Given the description of an element on the screen output the (x, y) to click on. 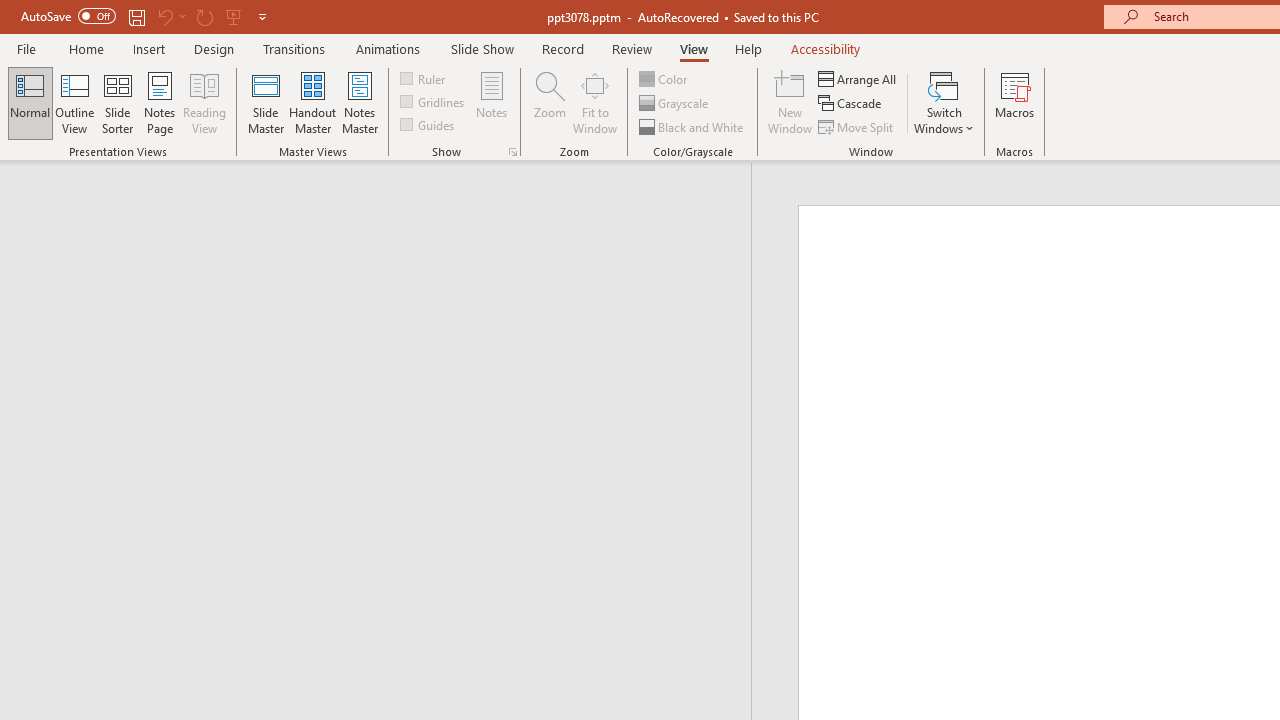
Grid Settings... (512, 151)
